Given the description of an element on the screen output the (x, y) to click on. 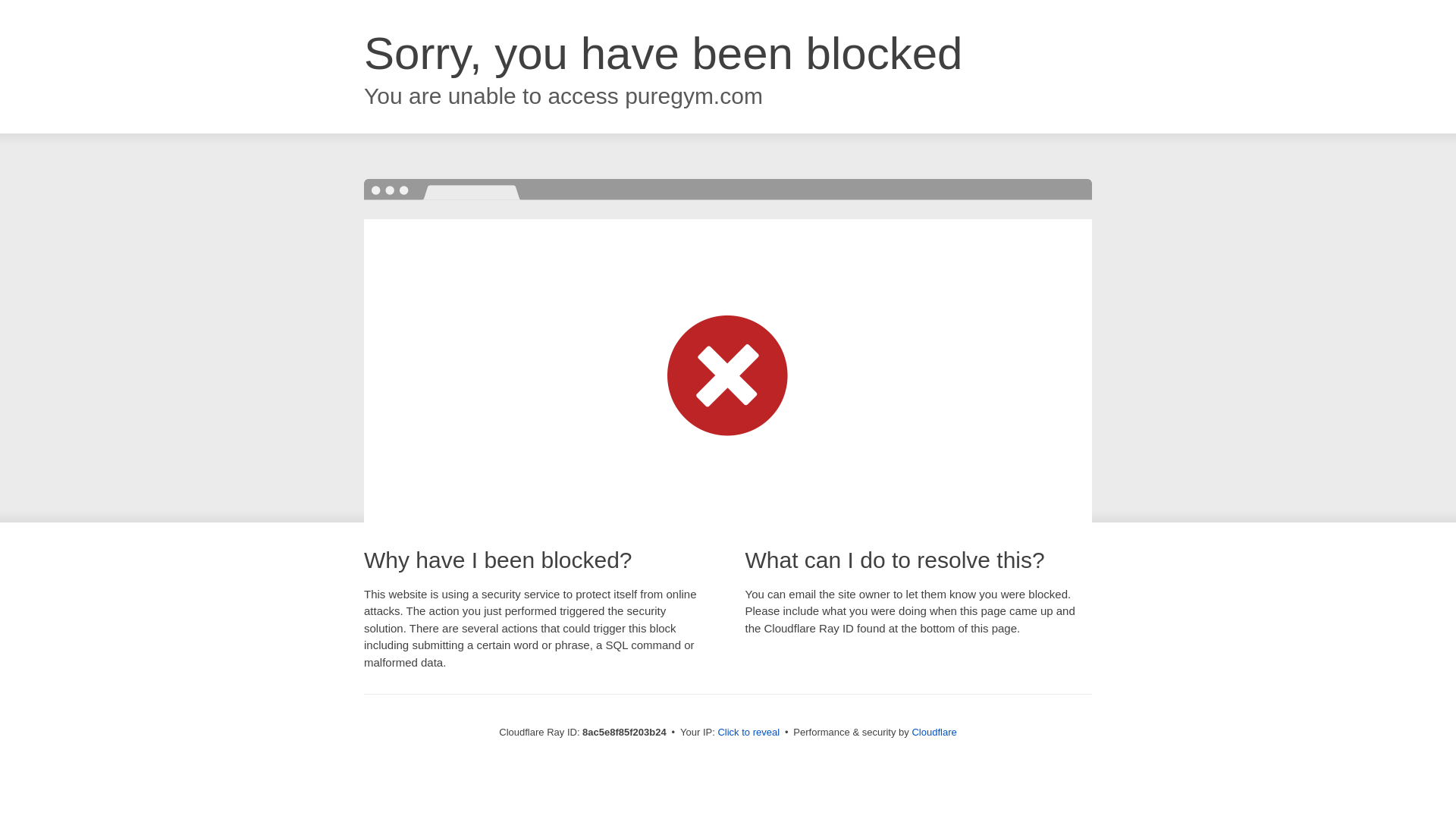
Cloudflare (933, 731)
Click to reveal (747, 732)
